Given the description of an element on the screen output the (x, y) to click on. 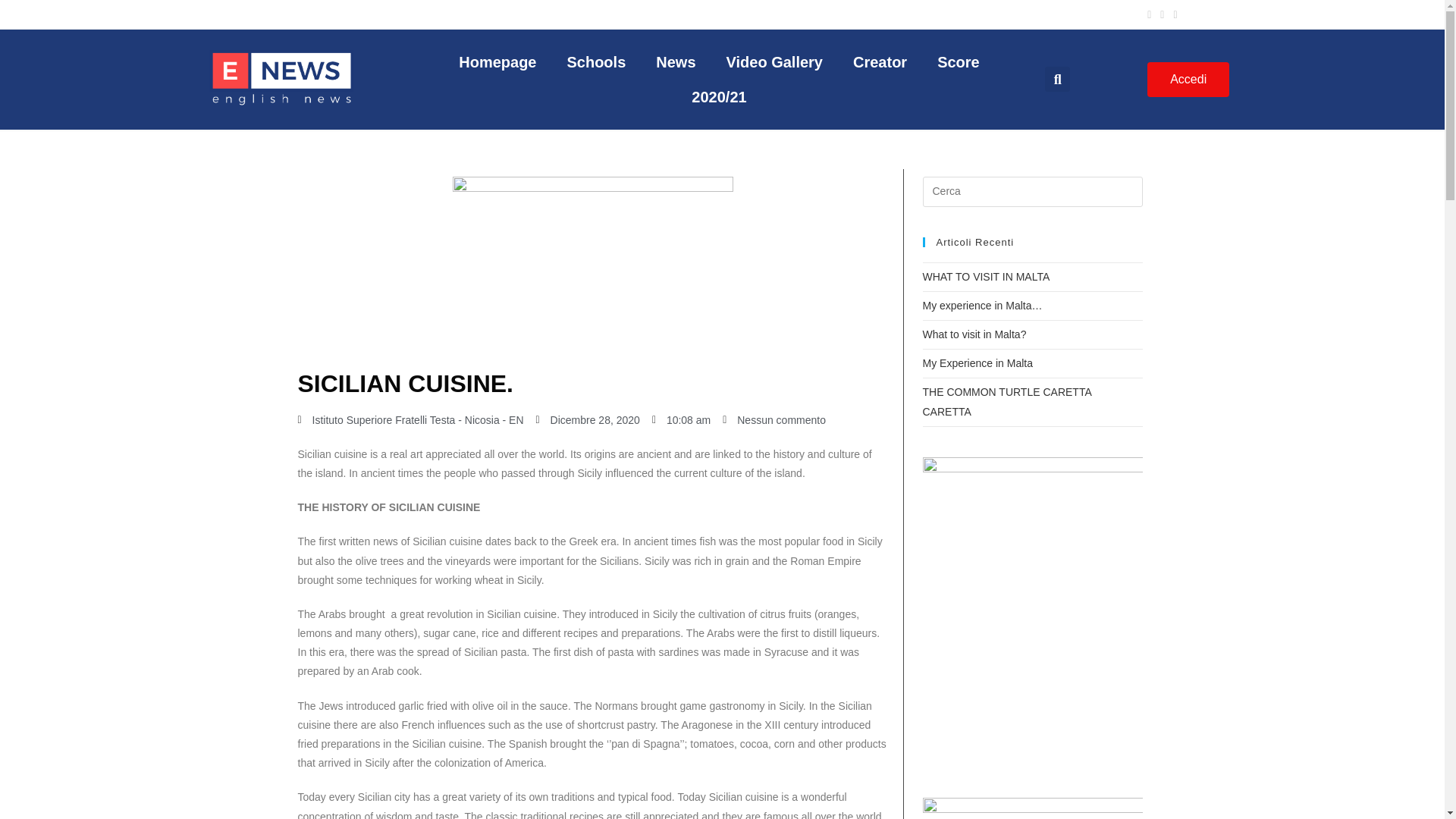
Score (957, 62)
Accedi (1187, 79)
News (675, 62)
Schools (595, 62)
WHAT TO VISIT IN MALTA (985, 276)
Dicembre 28, 2020 (587, 420)
Video Gallery (774, 62)
Creator (879, 62)
Istituto Superiore Fratelli Testa - Nicosia - EN (409, 420)
Homepage (497, 62)
